Given the description of an element on the screen output the (x, y) to click on. 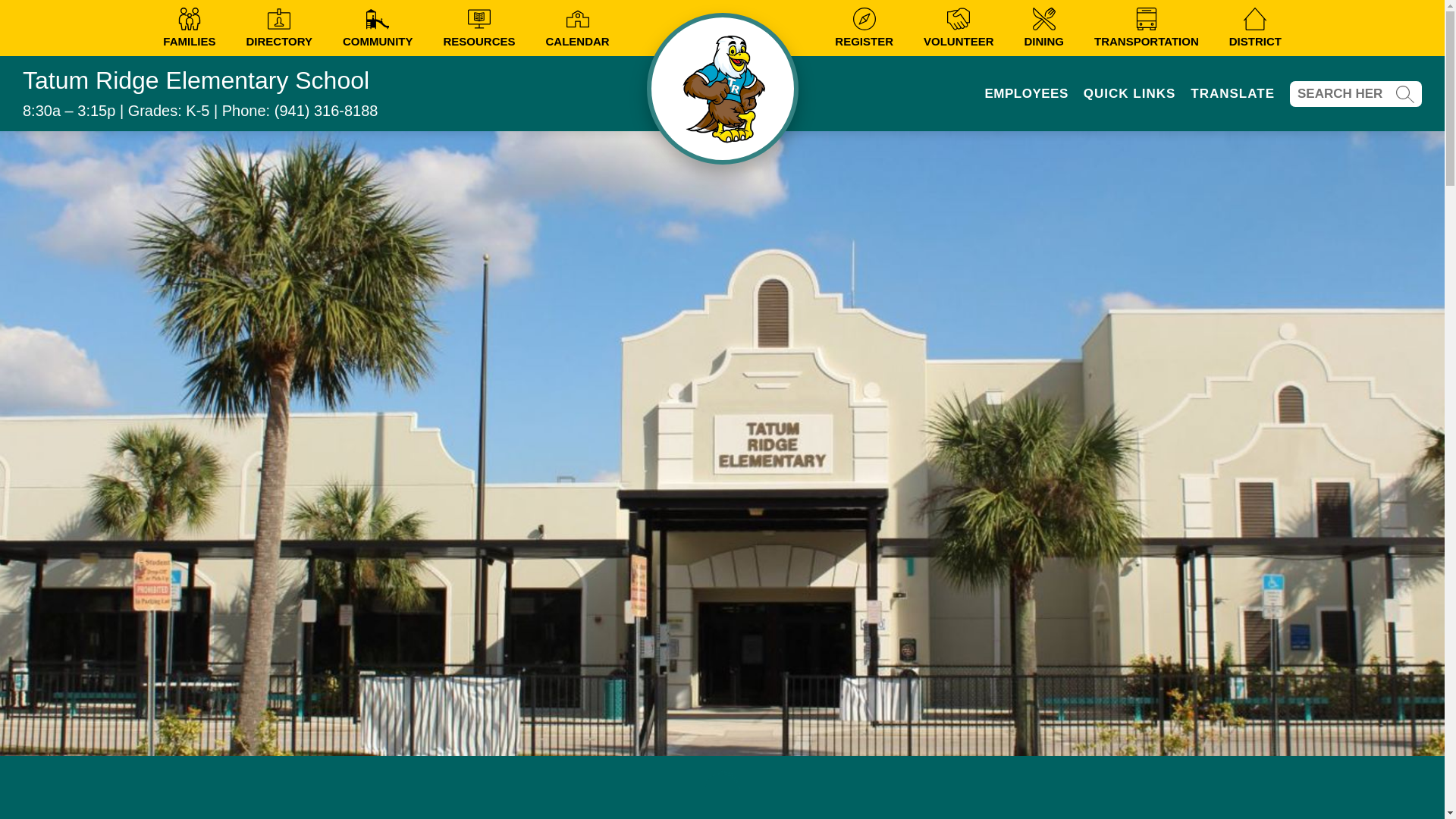
COMMUNITY (377, 27)
RESOURCES (478, 27)
DINING (1043, 27)
TRANSLATE (1233, 93)
FAMILIES (189, 27)
DISTRICT (1254, 27)
CALENDAR (578, 27)
REGISTER (863, 27)
QUICK LINKS (1129, 93)
DIRECTORY (279, 27)
